Given the description of an element on the screen output the (x, y) to click on. 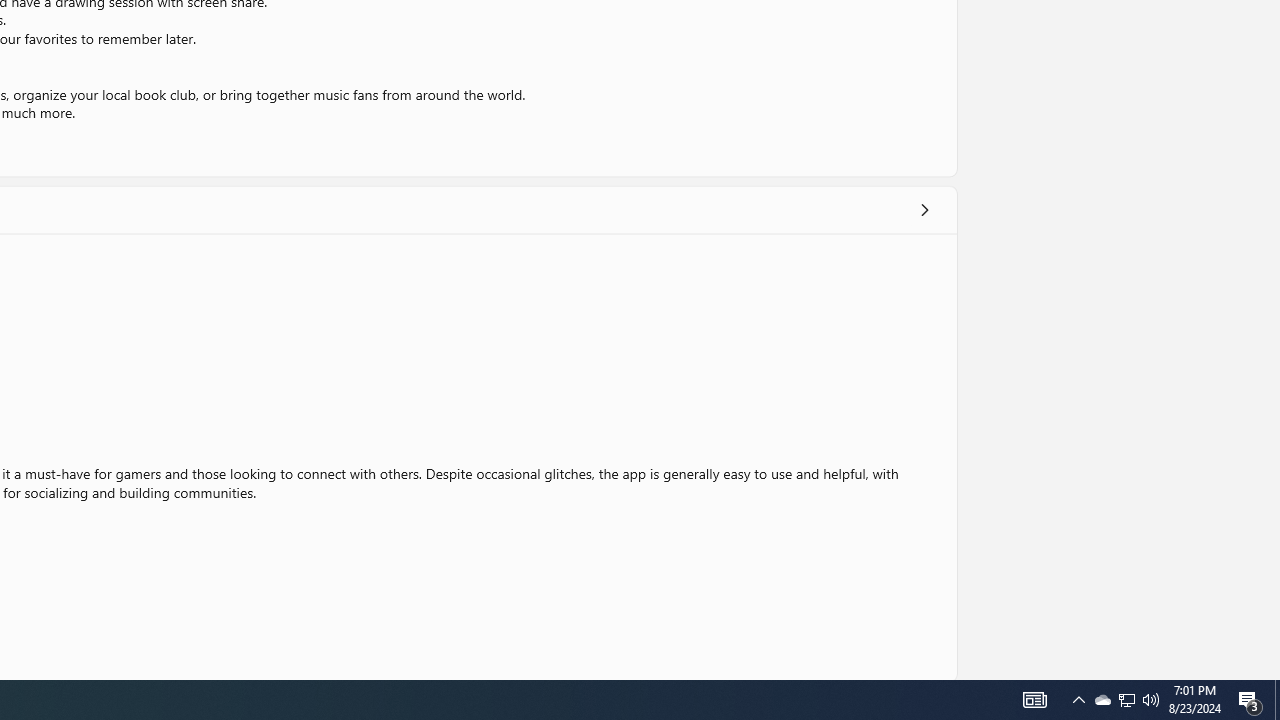
Show all ratings and reviews (924, 209)
